Given the description of an element on the screen output the (x, y) to click on. 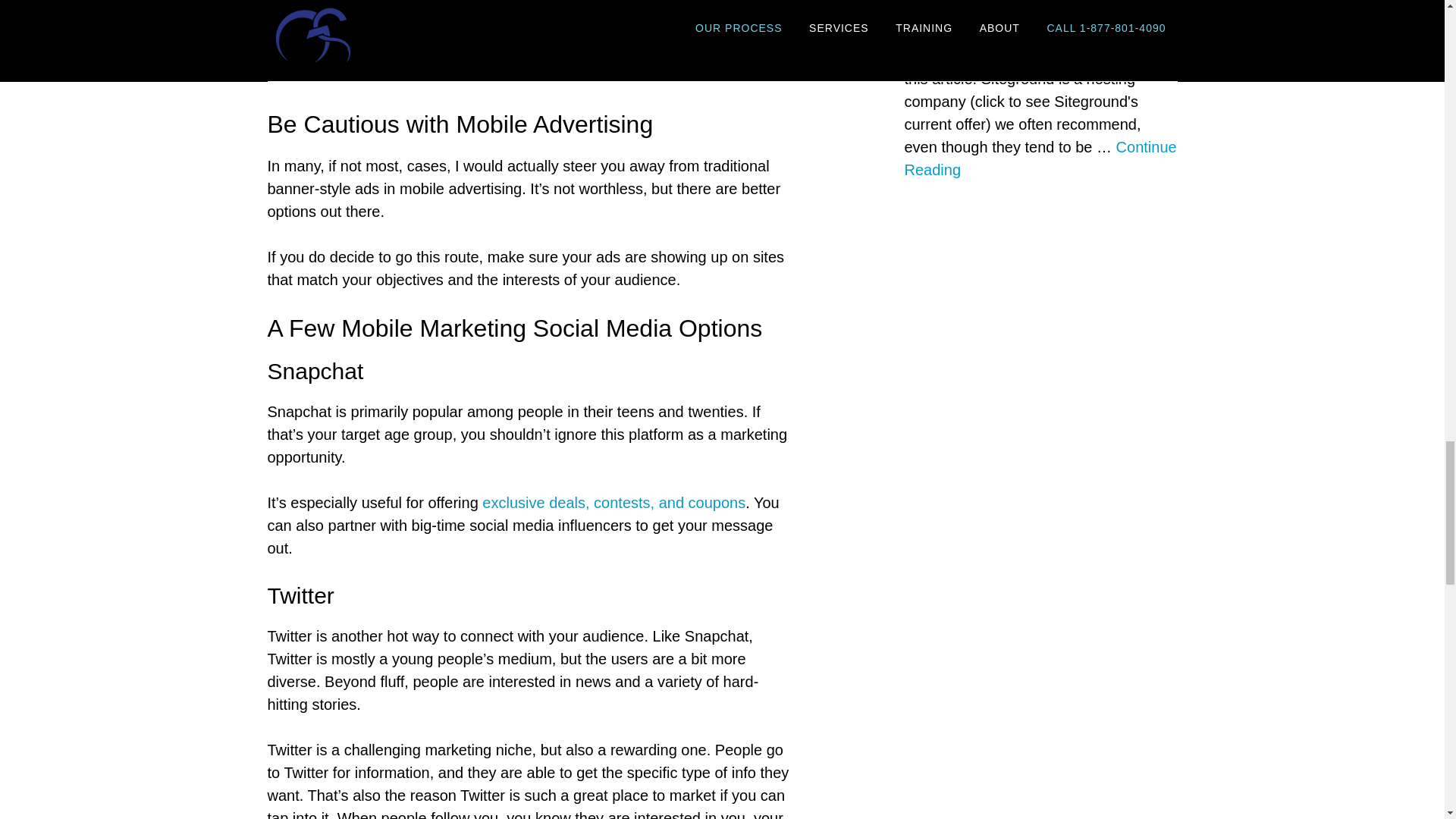
exclusive deals, contests, and coupons (613, 502)
